Given the description of an element on the screen output the (x, y) to click on. 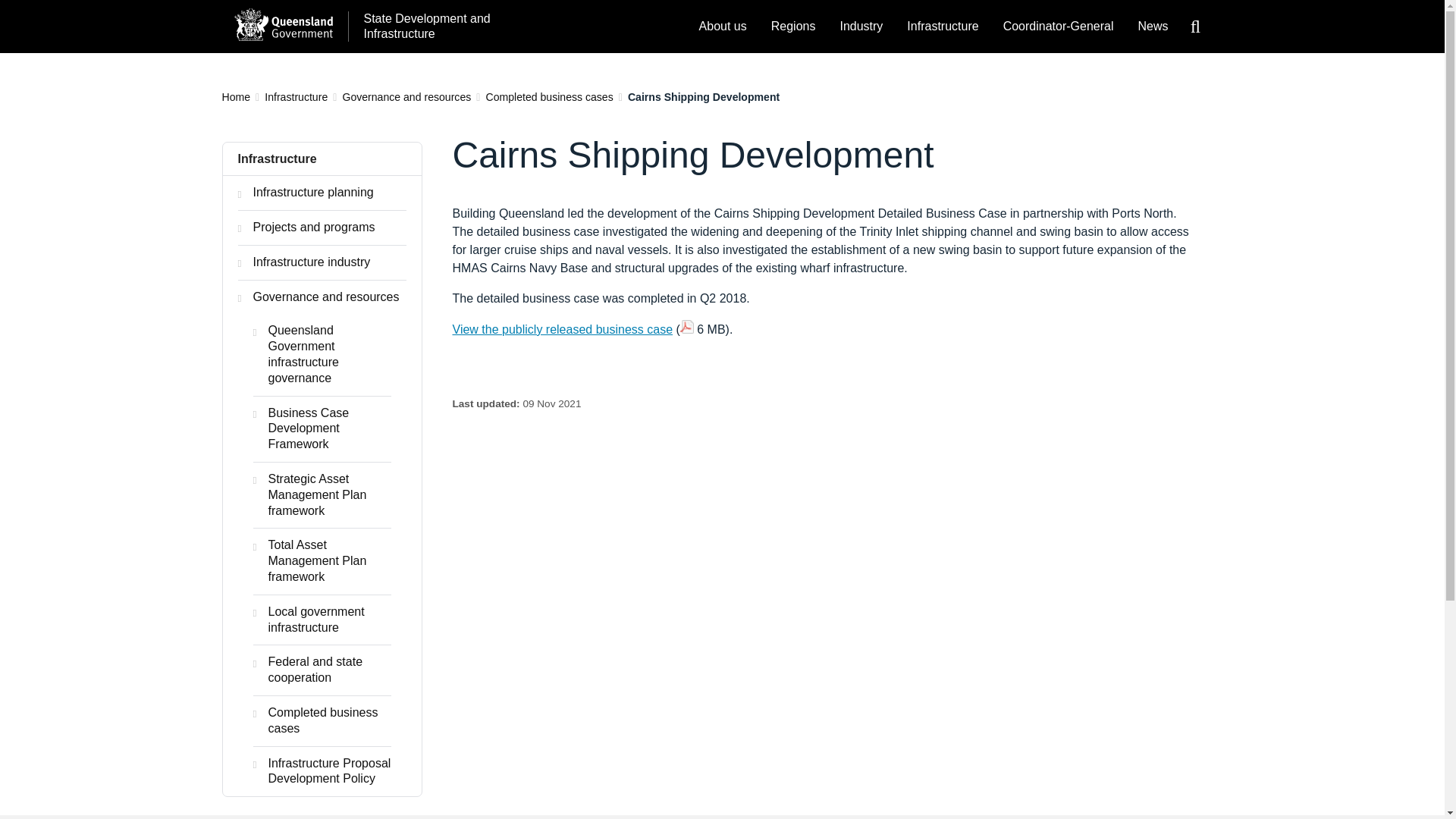
Queensland Government (281, 24)
About us (722, 26)
Regions (793, 26)
Coordinator-General (1058, 26)
Infrastructure (942, 26)
State Development and Infrastructure (423, 26)
Industry (861, 26)
